Given the description of an element on the screen output the (x, y) to click on. 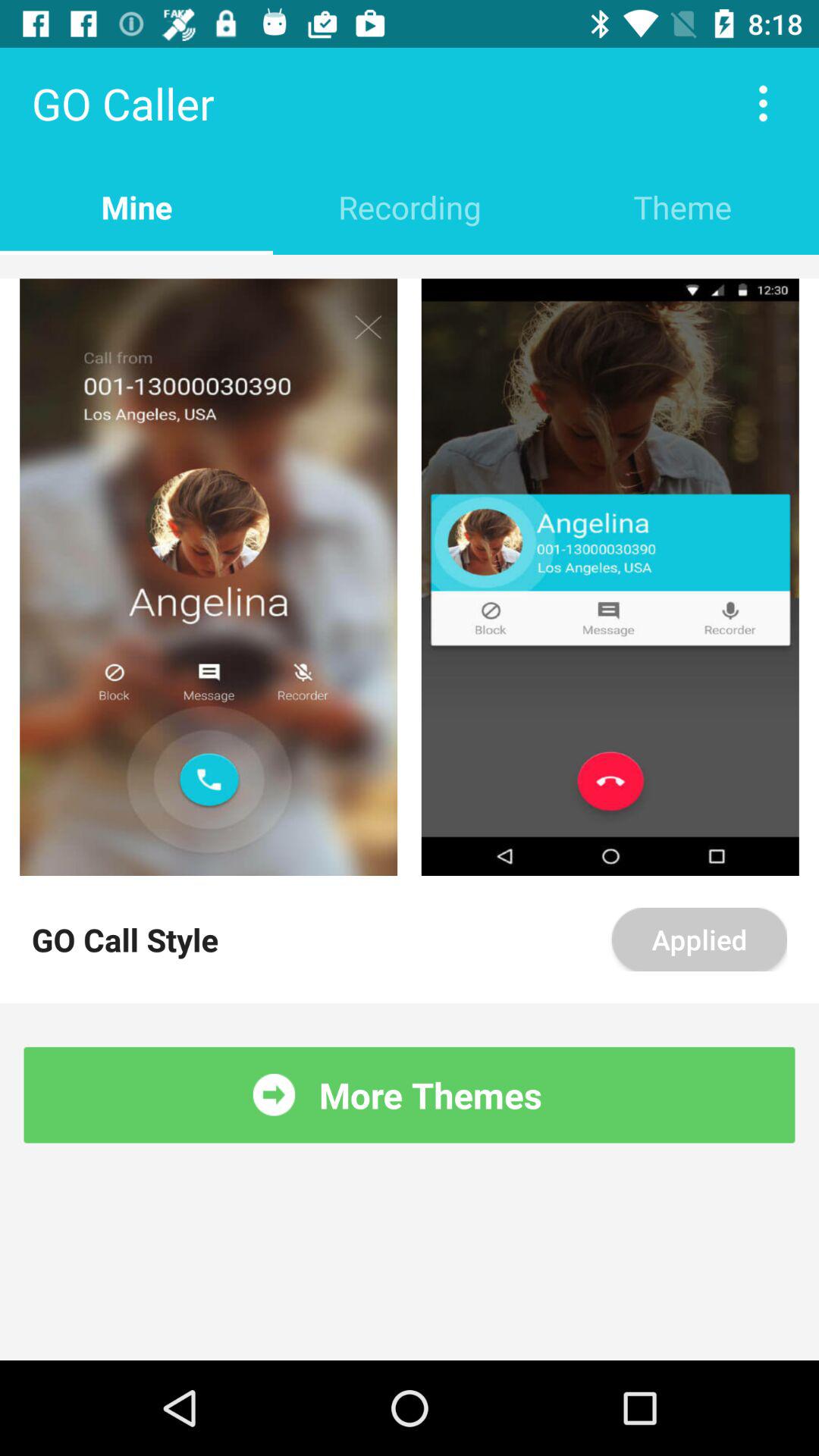
click the mine item (136, 206)
